Given the description of an element on the screen output the (x, y) to click on. 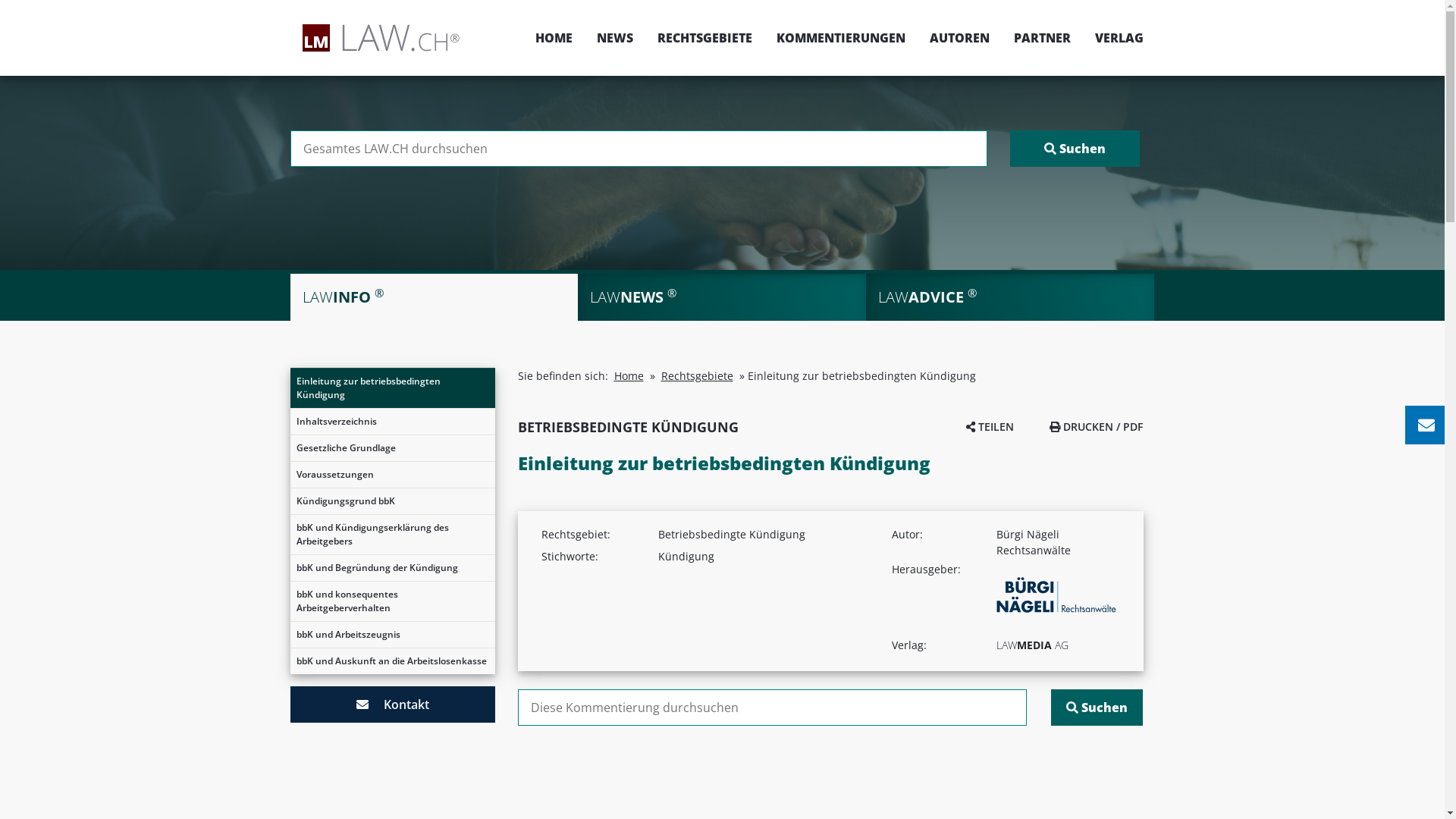
Suchen nach: Element type: hover (637, 148)
NEWS Element type: text (613, 37)
 TEILEN Element type: text (989, 426)
PARTNER Element type: text (1041, 37)
VERLAG Element type: text (1112, 37)
    Kontakt Element type: text (391, 704)
bbK und konsequentes Arbeitgeberverhalten Element type: text (391, 601)
AUTOREN Element type: text (959, 37)
Home Element type: text (628, 375)
bbK und Auskunft an die Arbeitslosenkasse Element type: text (391, 661)
KOMMENTIERUNGEN Element type: text (840, 37)
 DRUCKEN / PDF Element type: text (1095, 426)
RECHTSGEBIETE Element type: text (703, 37)
Inhaltsverzeichnis Element type: text (391, 421)
Suchen nach: Element type: hover (771, 707)
Rechtsgebiete Element type: text (697, 375)
Gesetzliche Grundlage Element type: text (391, 448)
Voraussetzungen Element type: text (391, 474)
HOME Element type: text (553, 37)
bbK und Arbeitszeugnis Element type: text (391, 634)
